Given the description of an element on the screen output the (x, y) to click on. 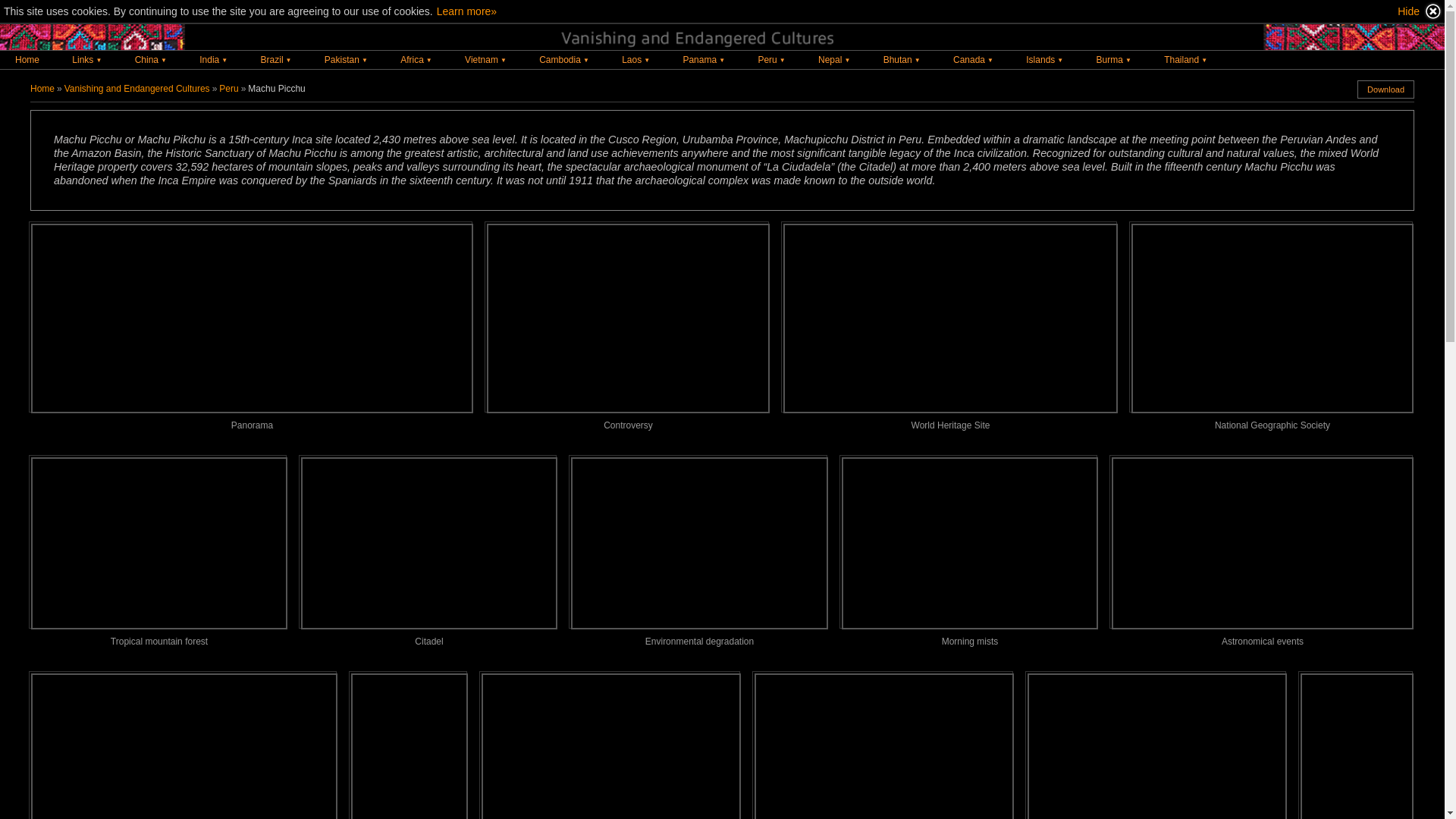
Vanishing Cultures Photography (42, 88)
Hide (1419, 11)
Home (27, 59)
